Given the description of an element on the screen output the (x, y) to click on. 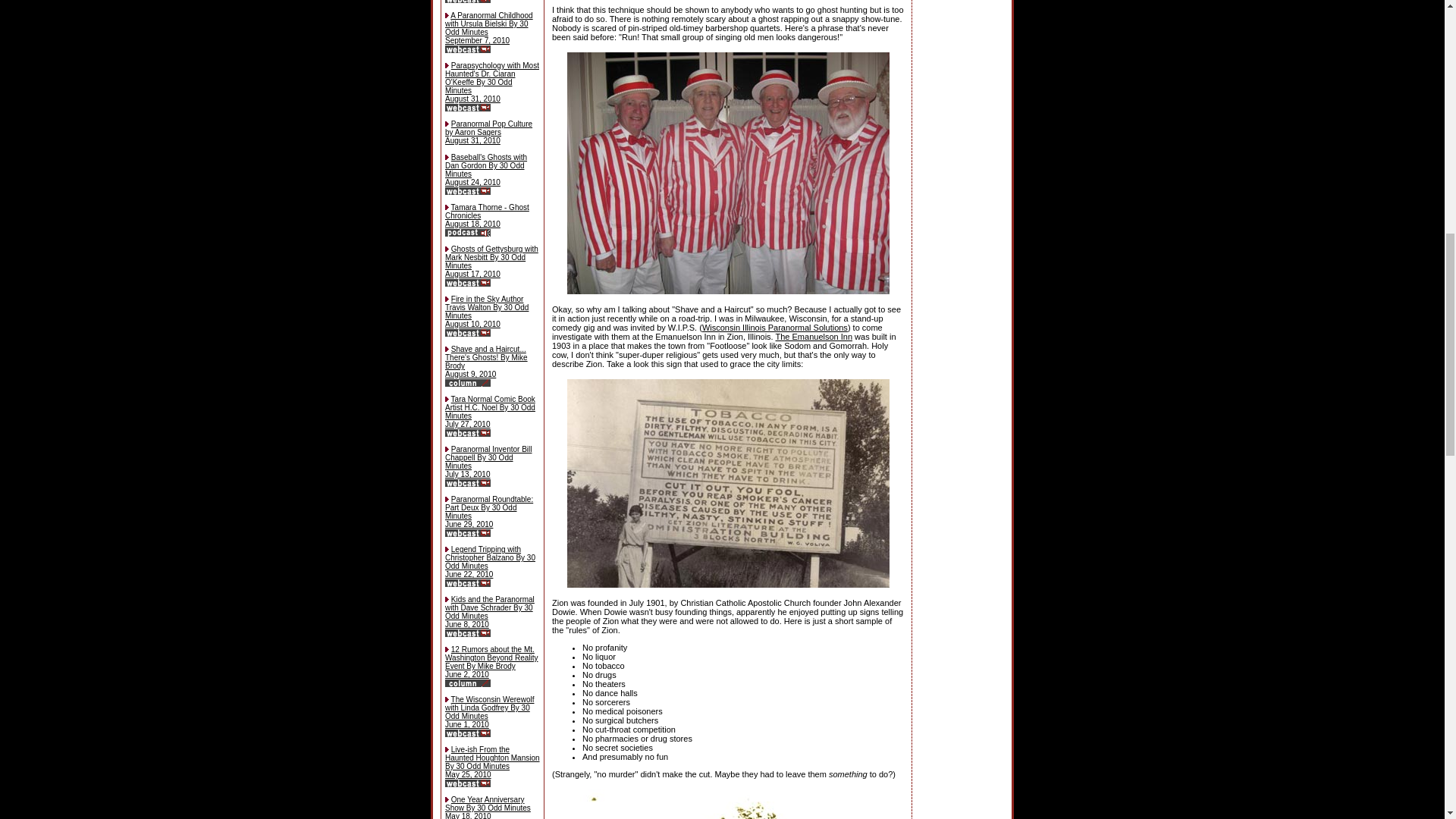
Advertisement (961, 45)
